Given the description of an element on the screen output the (x, y) to click on. 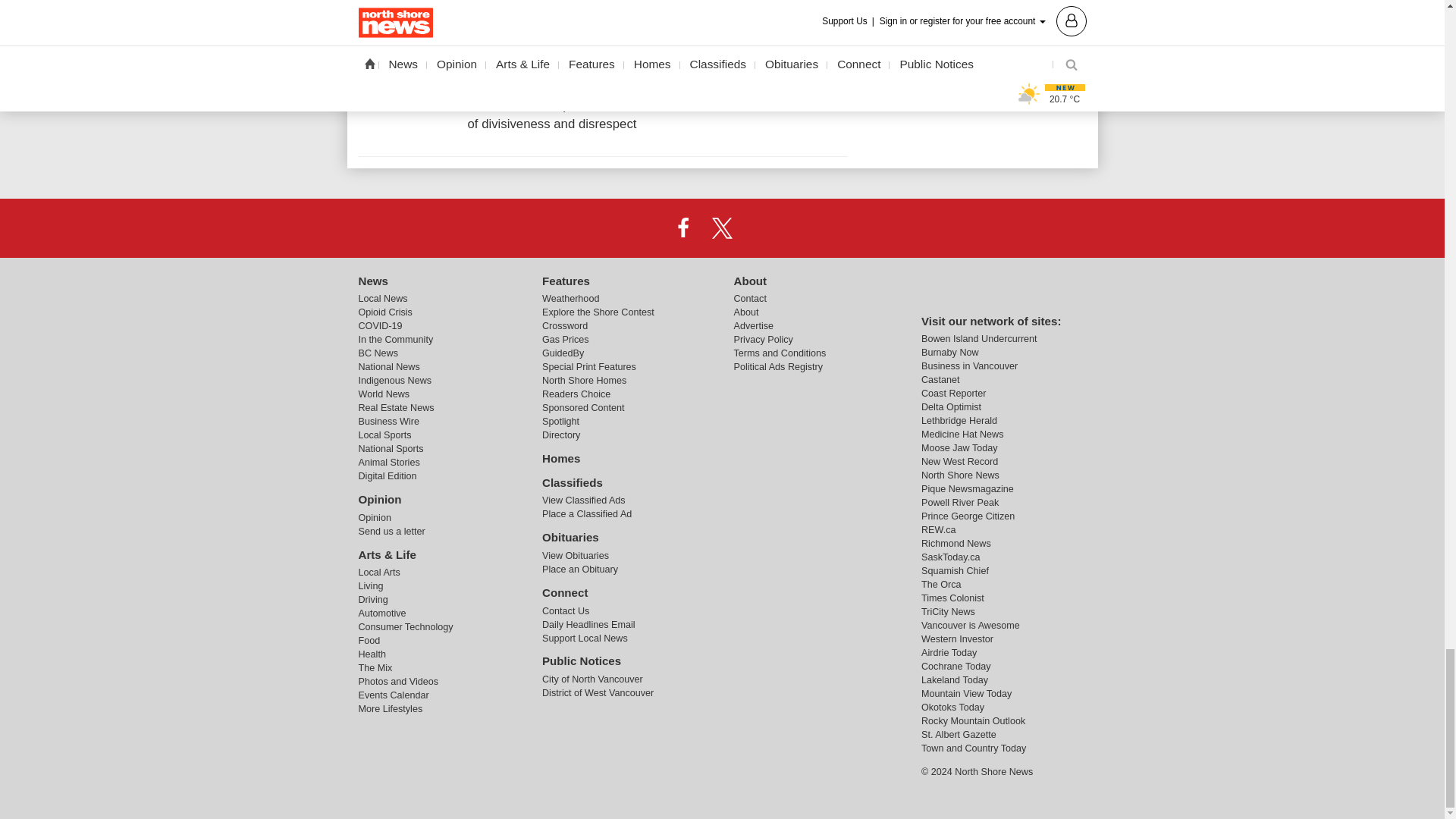
Instagram (760, 226)
X (721, 226)
Facebook (683, 226)
